Given the description of an element on the screen output the (x, y) to click on. 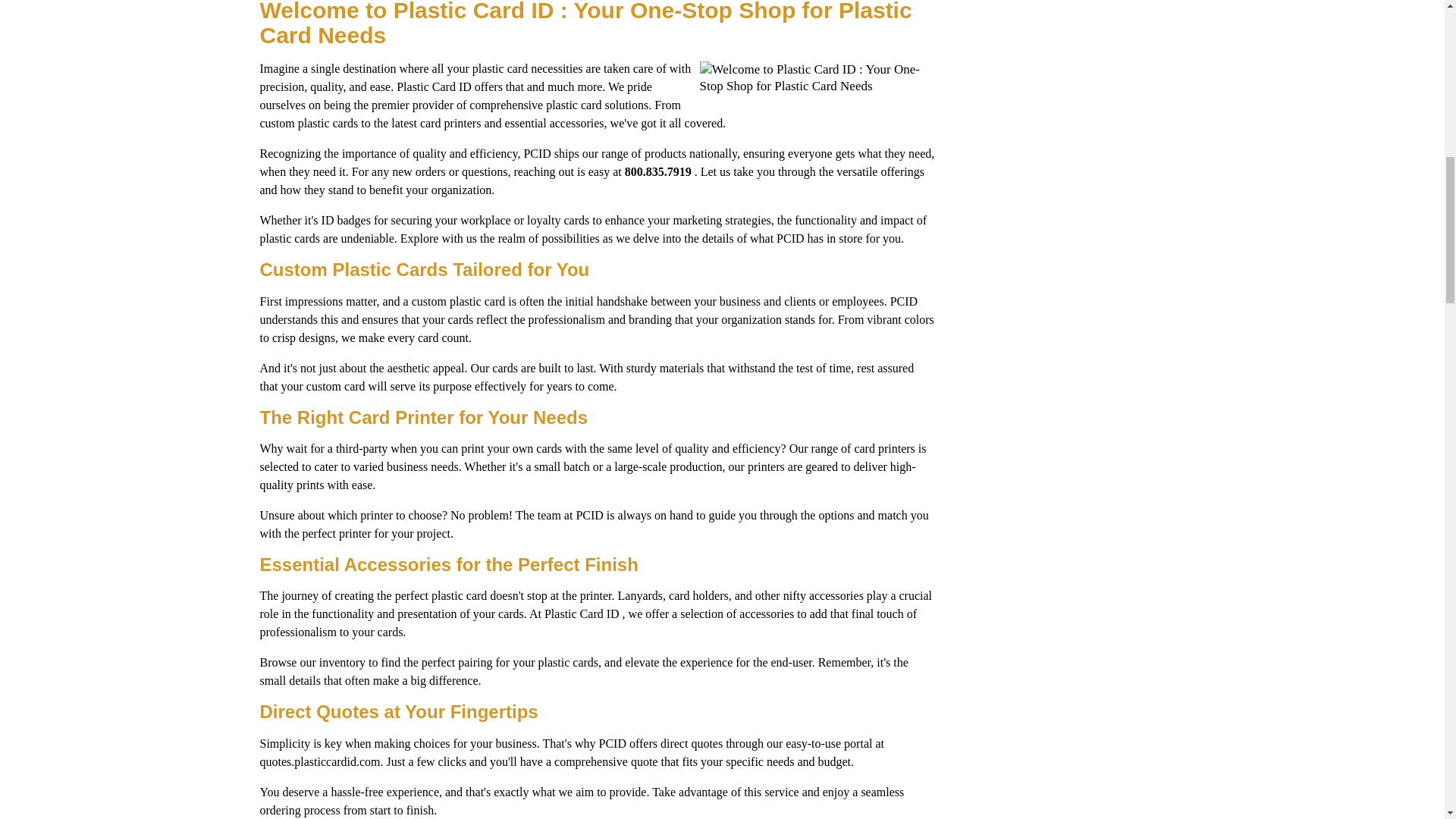
card printer (448, 123)
plastic card (477, 300)
plastic cards (289, 237)
plastic cards (328, 123)
card printer (881, 448)
